Given the description of an element on the screen output the (x, y) to click on. 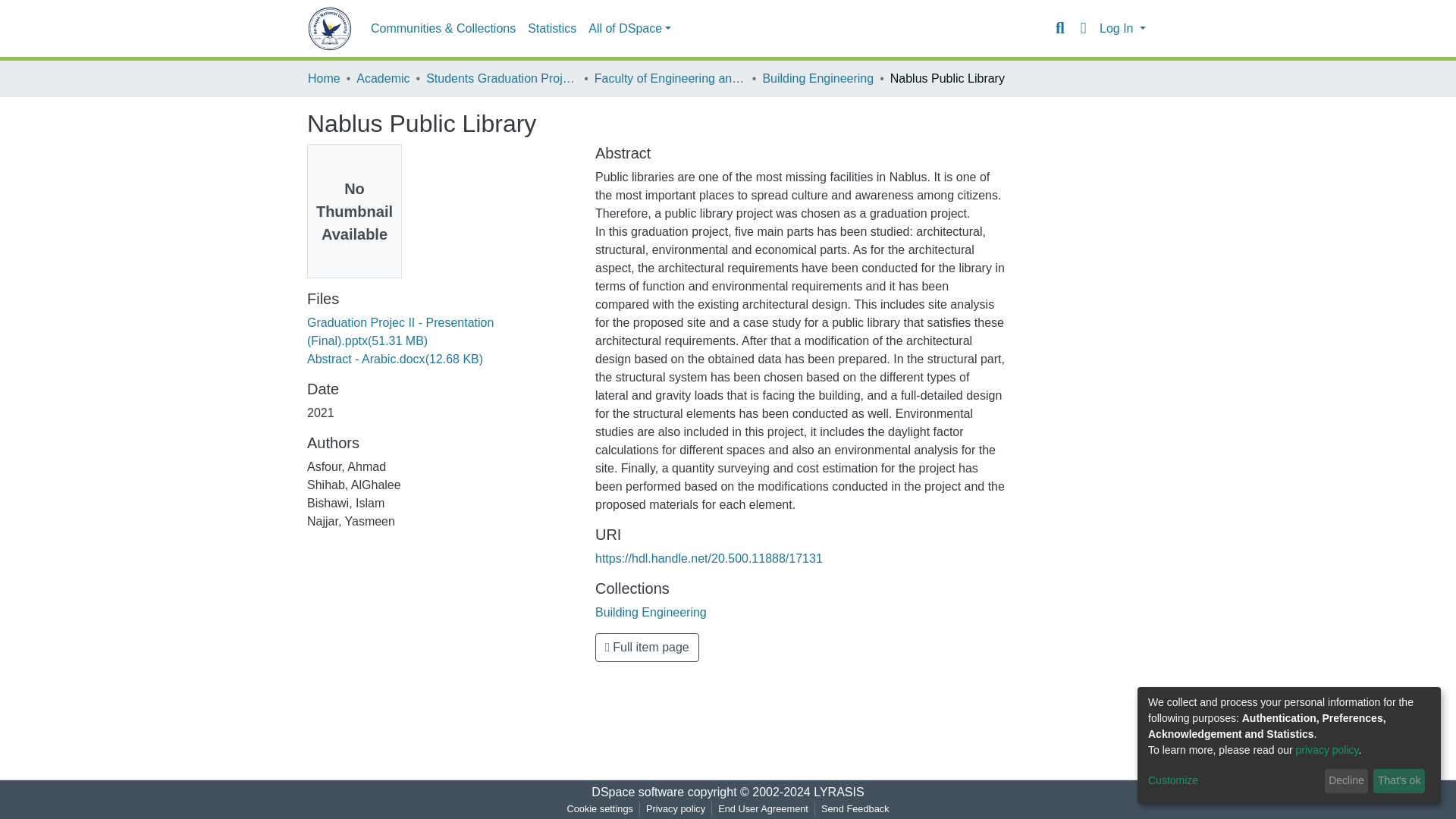
Home (323, 78)
Building Engineering (817, 78)
Language switch (1083, 28)
Building Engineering (650, 612)
Academic (382, 78)
Privacy policy (675, 808)
End User Agreement (762, 808)
Cookie settings (599, 808)
All of DSpace (629, 28)
Customize (1233, 780)
Log In (1122, 28)
Statistics (551, 28)
LYRASIS (838, 791)
Statistics (551, 28)
Students Graduation Projects (502, 78)
